Given the description of an element on the screen output the (x, y) to click on. 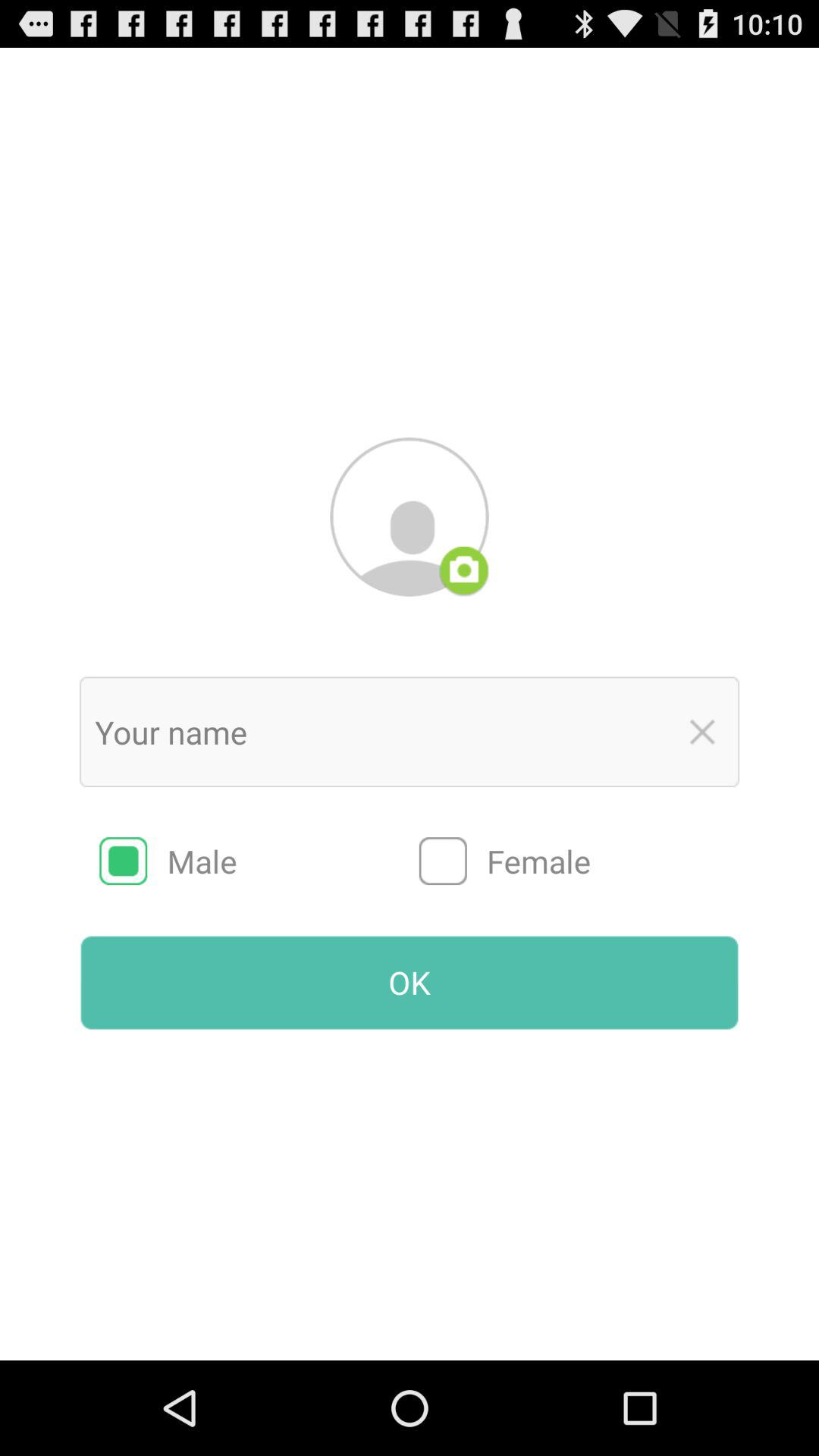
choose the female (579, 860)
